Given the description of an element on the screen output the (x, y) to click on. 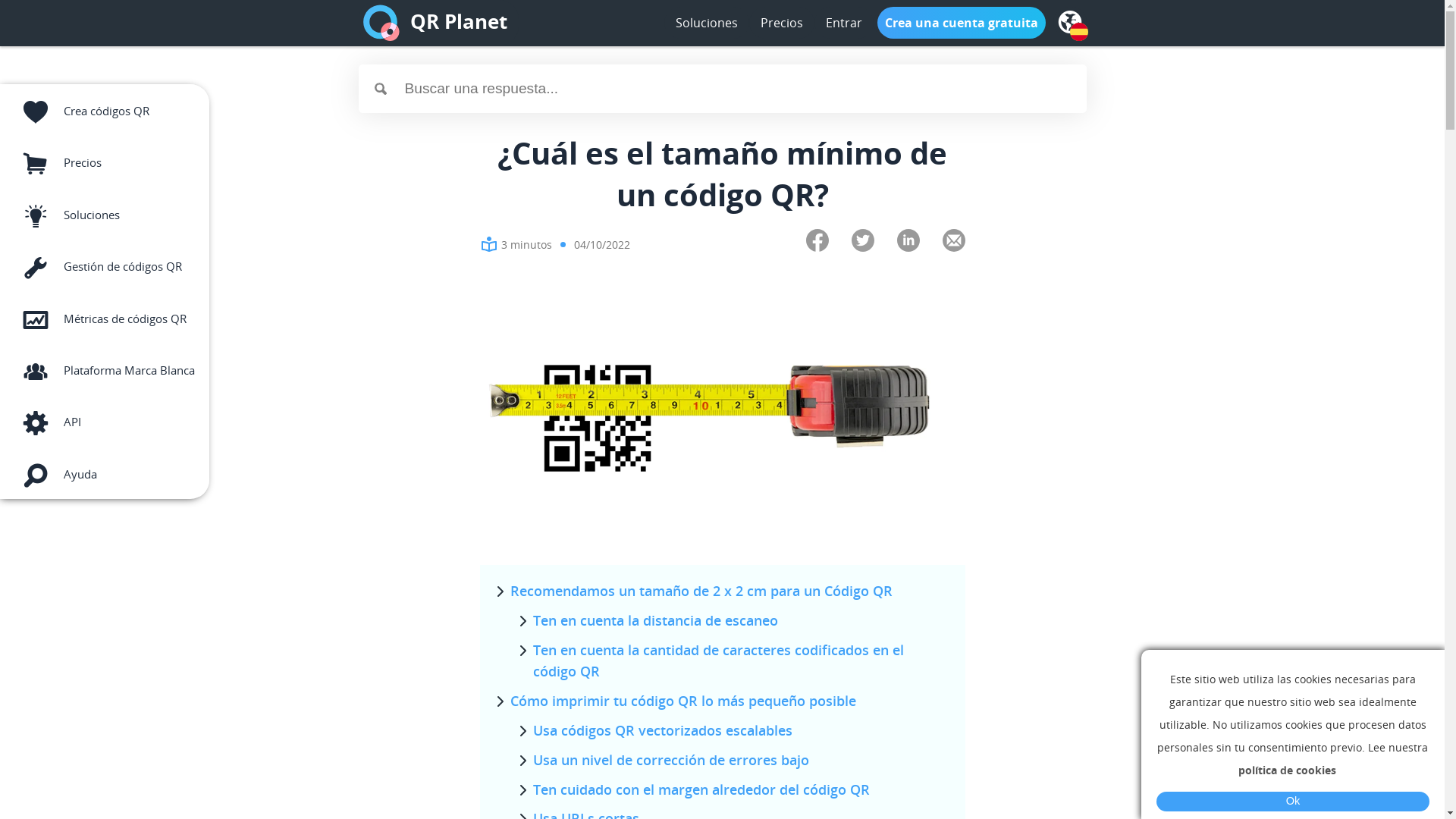
API Element type: text (104, 419)
Crea una cuenta gratuita Element type: text (960, 22)
Plataforma Marca Blanca Element type: text (104, 367)
Precios Element type: text (104, 160)
Soluciones Element type: text (705, 22)
Share on LinkedIn Element type: hover (907, 242)
Entrar Element type: text (843, 22)
Ayuda Element type: text (104, 471)
Share on Facebook Element type: hover (816, 242)
QR Planet Element type: text (457, 22)
Ok Element type: text (1292, 801)
Ten en cuenta la distancia de escaneo Element type: text (654, 620)
Share on Twitter Element type: hover (861, 242)
Precios Element type: text (780, 22)
Share via e-mail Element type: hover (952, 242)
Soluciones Element type: text (104, 212)
